Given the description of an element on the screen output the (x, y) to click on. 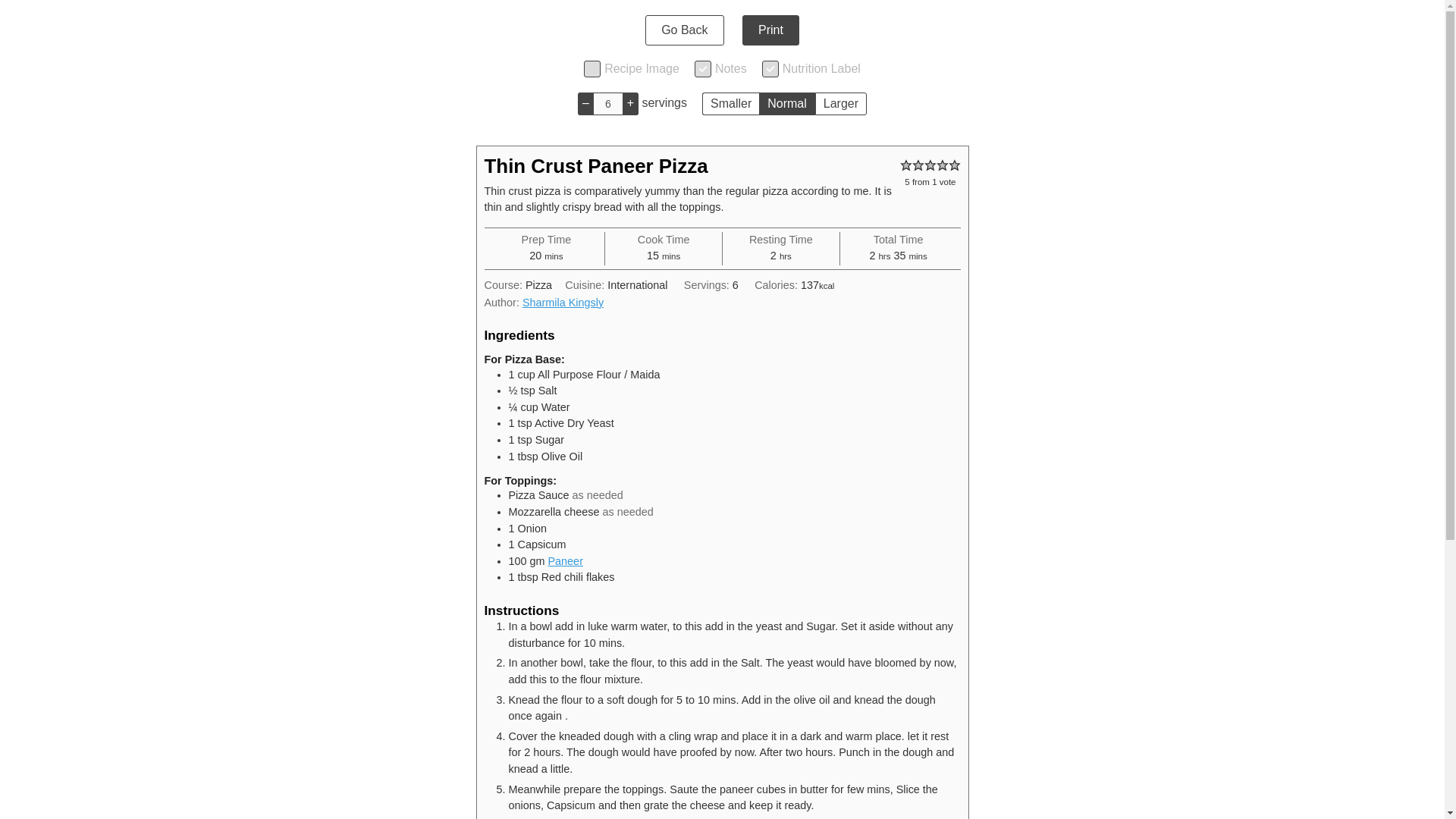
Smaller (729, 103)
Go Back (684, 30)
6 (607, 103)
Paneer (565, 561)
Normal (786, 103)
Print (770, 30)
Sharmila Kingsly (563, 302)
Larger (840, 103)
